Given the description of an element on the screen output the (x, y) to click on. 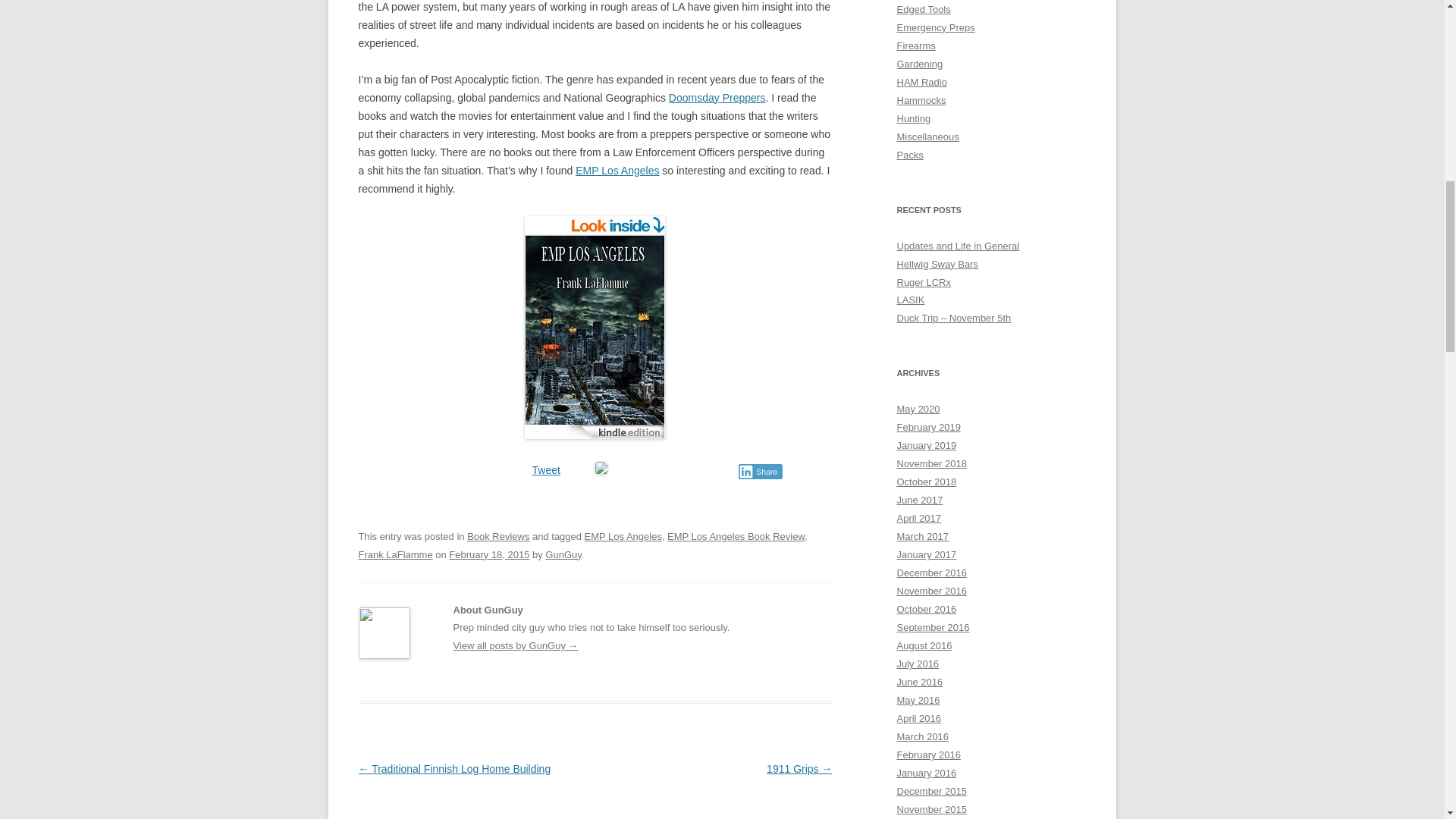
Doomsday Preppers (716, 97)
EMP Los Angeles (617, 170)
EMP Los Angeles (617, 170)
HAM Radio (921, 81)
Firearms (915, 45)
Share on Tumblr (672, 468)
Share (760, 471)
Emergency Preps (935, 27)
7:54 pm (488, 554)
Share on Tumblr (672, 468)
Frank LaFlamme (395, 554)
Tweet (546, 469)
February 18, 2015 (488, 554)
Book Reviews (498, 536)
GunGuy (562, 554)
